Given the description of an element on the screen output the (x, y) to click on. 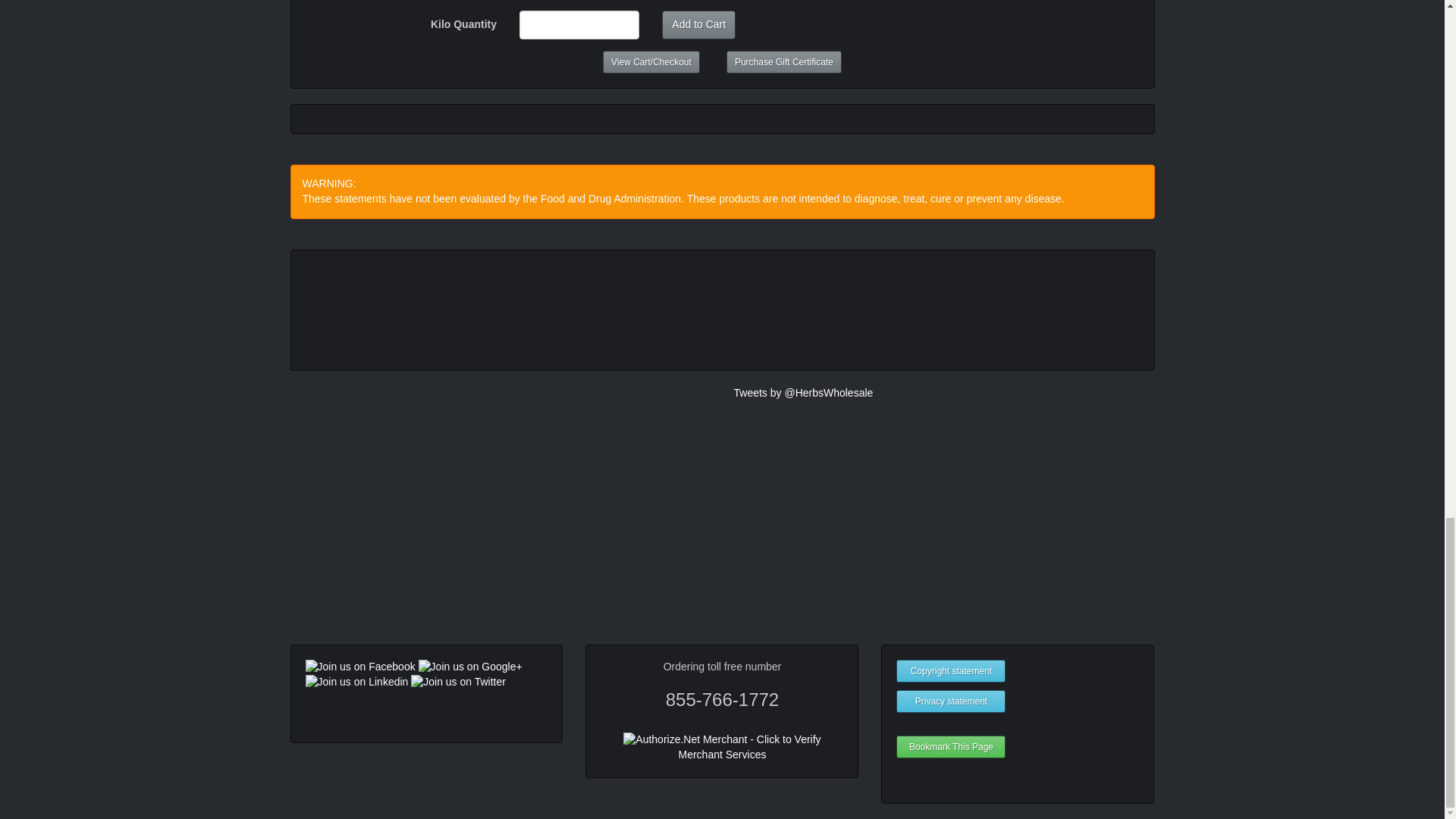
Add to Cart (698, 24)
Add to Cart (698, 24)
Bookmark This Page (951, 746)
Purchase Gift Certificate (783, 61)
Copyright statement (951, 671)
Merchant Services (721, 754)
Bookmark This Page (951, 746)
Privacy statement (951, 701)
